Given the description of an element on the screen output the (x, y) to click on. 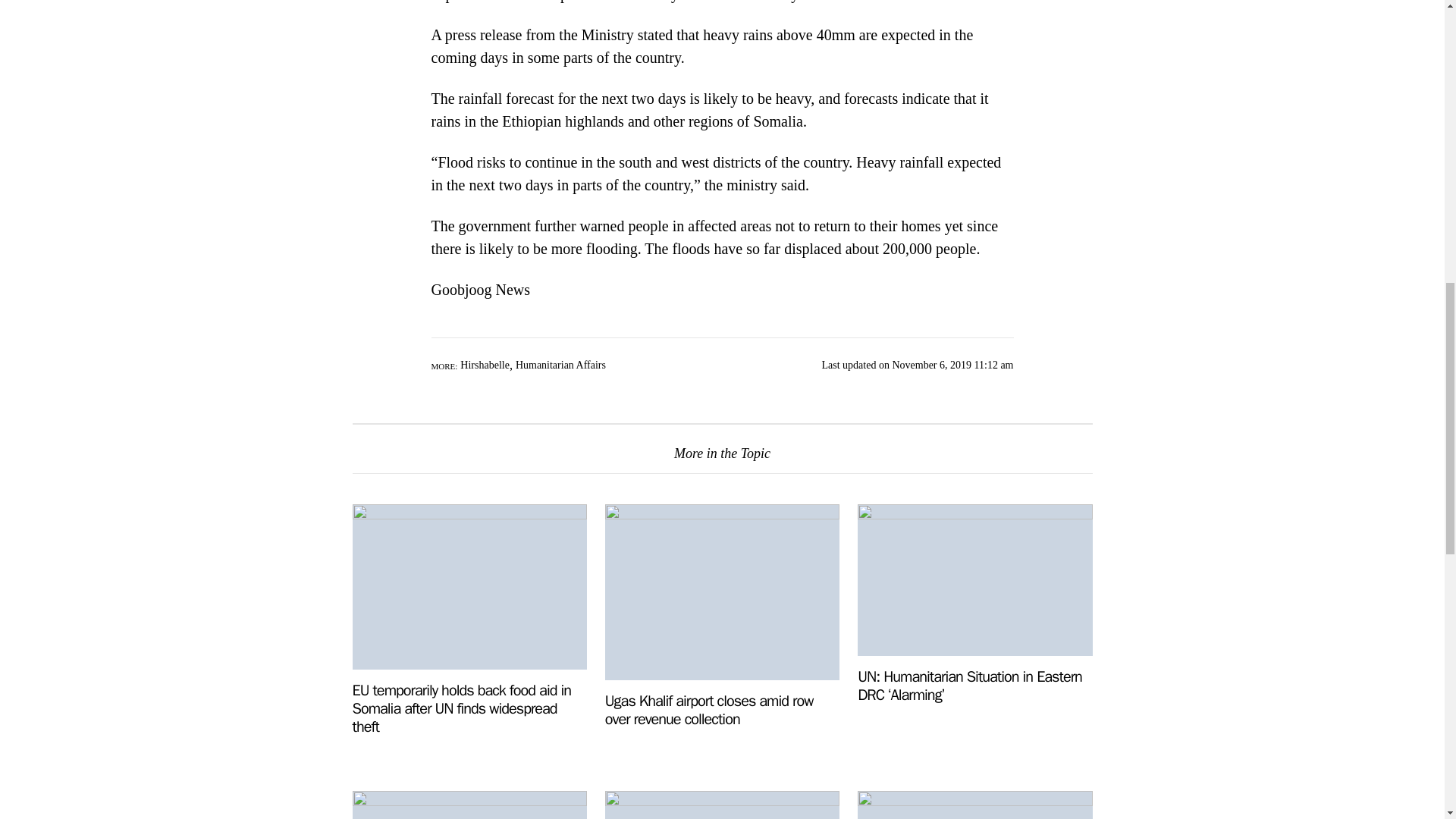
Hirshabelle (484, 365)
Ugas Khalif airport closes amid row over revenue collection (709, 709)
Humanitarian Affairs (560, 365)
